Given the description of an element on the screen output the (x, y) to click on. 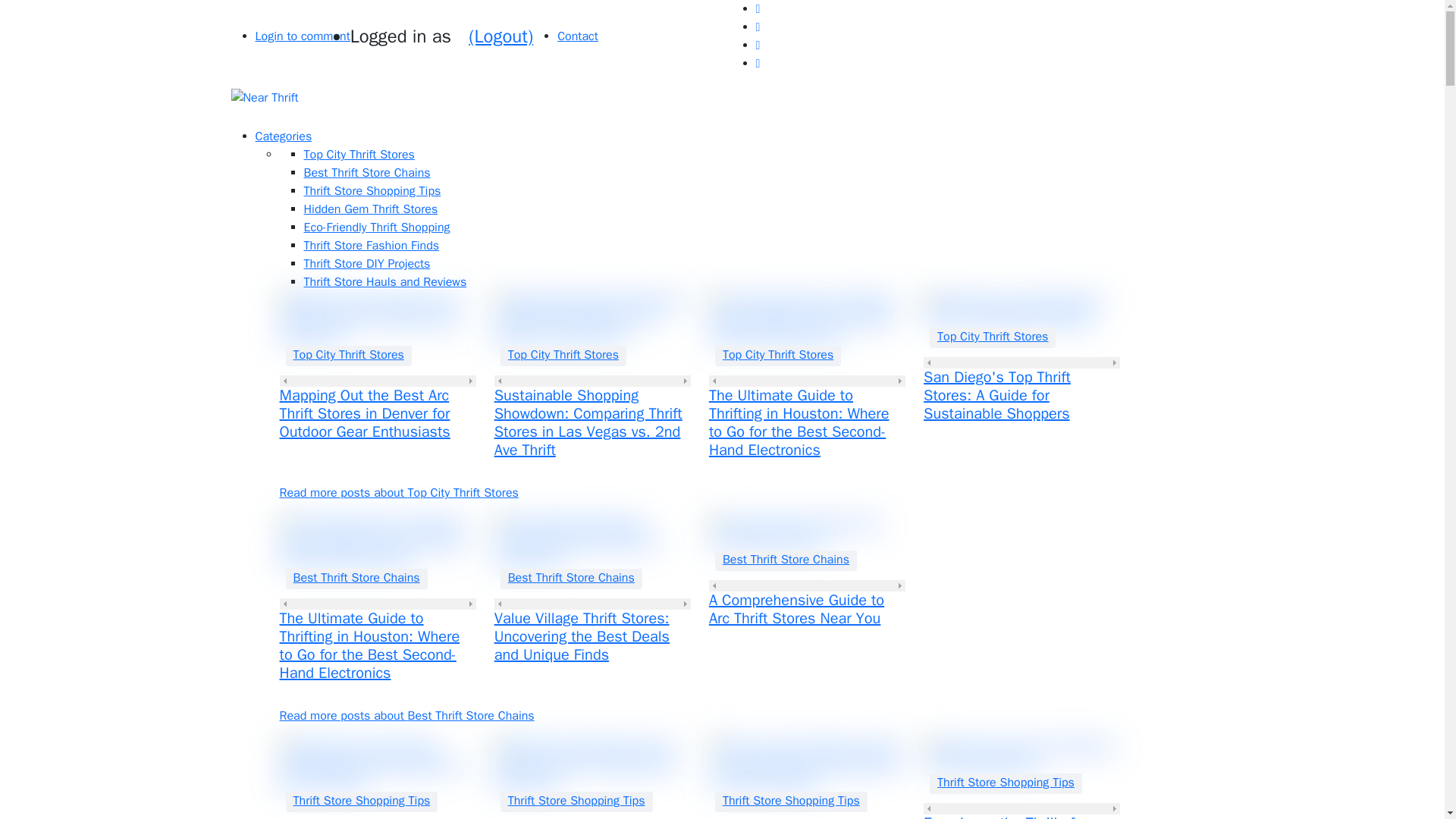
Top City Thrift Stores (992, 336)
Read more posts about Best Thrift Store Chains (406, 715)
Best Thrift Store Chains (355, 577)
Best Thrift Store Chains (365, 172)
Eco-Friendly Thrift Shopping (375, 227)
Login to comment (301, 36)
Thrift Store Hauls and Reviews (383, 281)
